Given the description of an element on the screen output the (x, y) to click on. 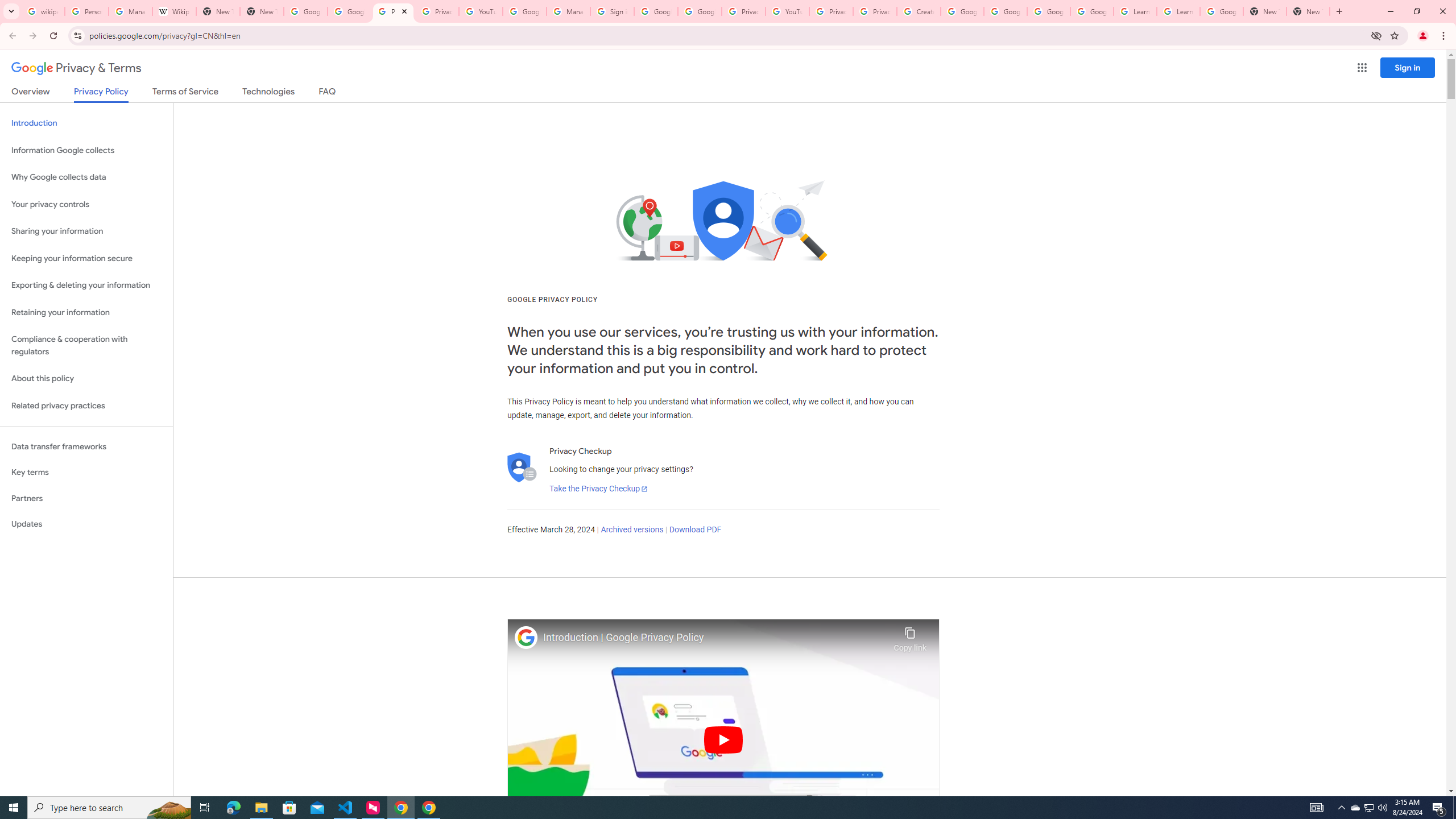
Google Account (1221, 11)
Play (723, 739)
Take the Privacy Checkup (597, 488)
YouTube (786, 11)
Google Account Help (962, 11)
New Tab (1264, 11)
